Given the description of an element on the screen output the (x, y) to click on. 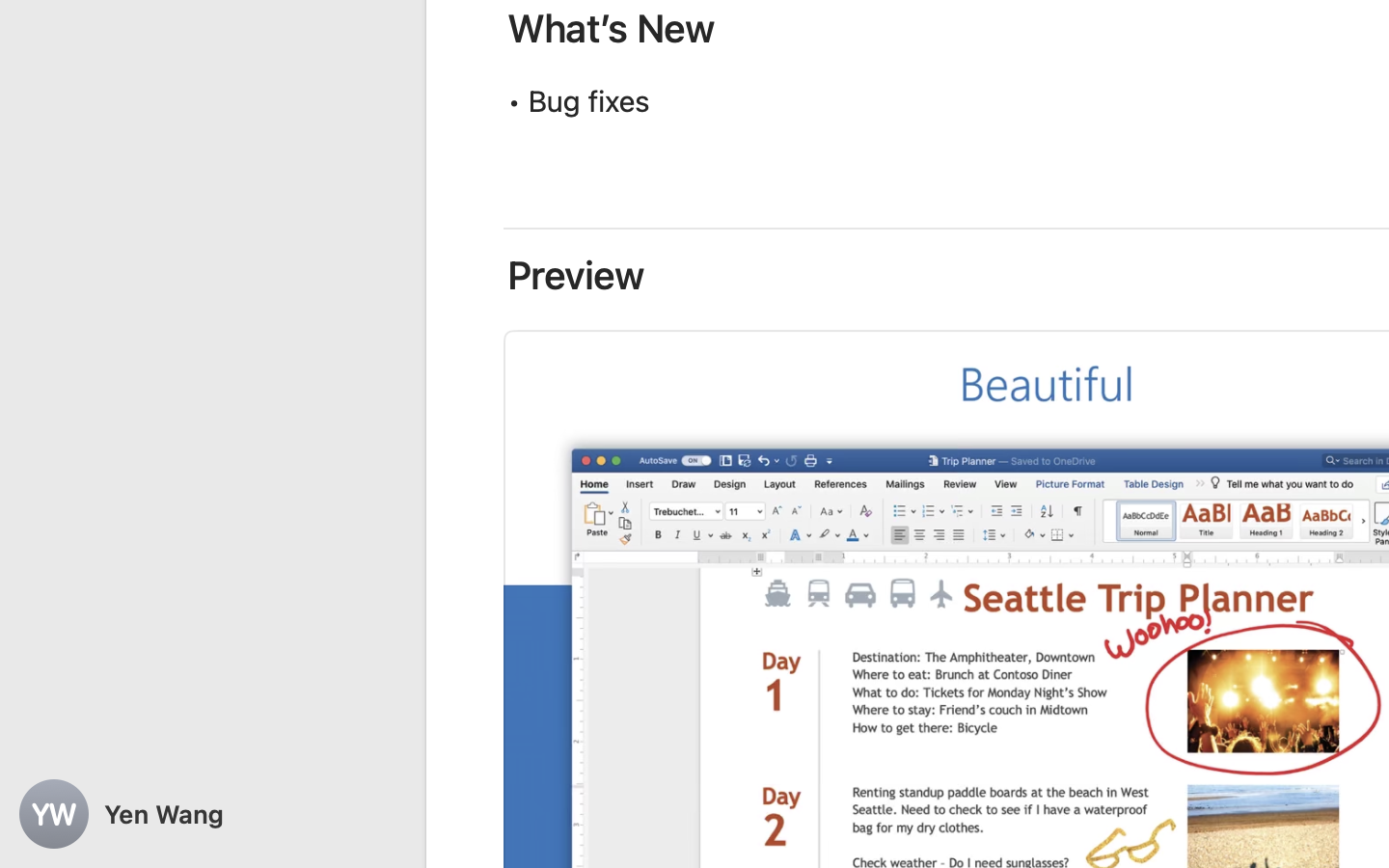
Yen Wang Element type: AXButton (212, 813)
What’s New Element type: AXStaticText (611, 28)
